Given the description of an element on the screen output the (x, y) to click on. 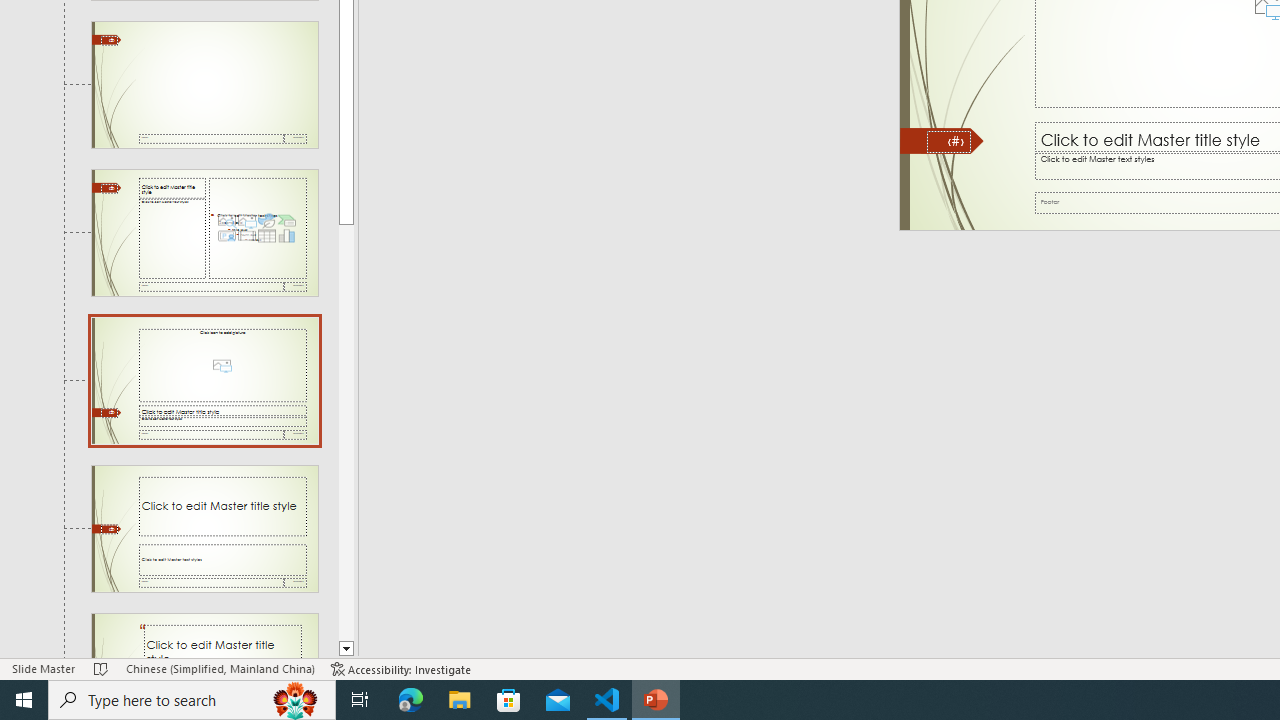
Slide Blank Layout: used by no slides (204, 85)
Slide Content with Caption Layout: used by no slides (204, 232)
Slide Picture with Caption Layout: used by no slides (204, 381)
Slide Quote with Caption Layout: used by no slides (204, 636)
Freeform 11 (941, 141)
Slide Title and Caption Layout: used by no slides (204, 528)
Slide Number (948, 141)
